Given the description of an element on the screen output the (x, y) to click on. 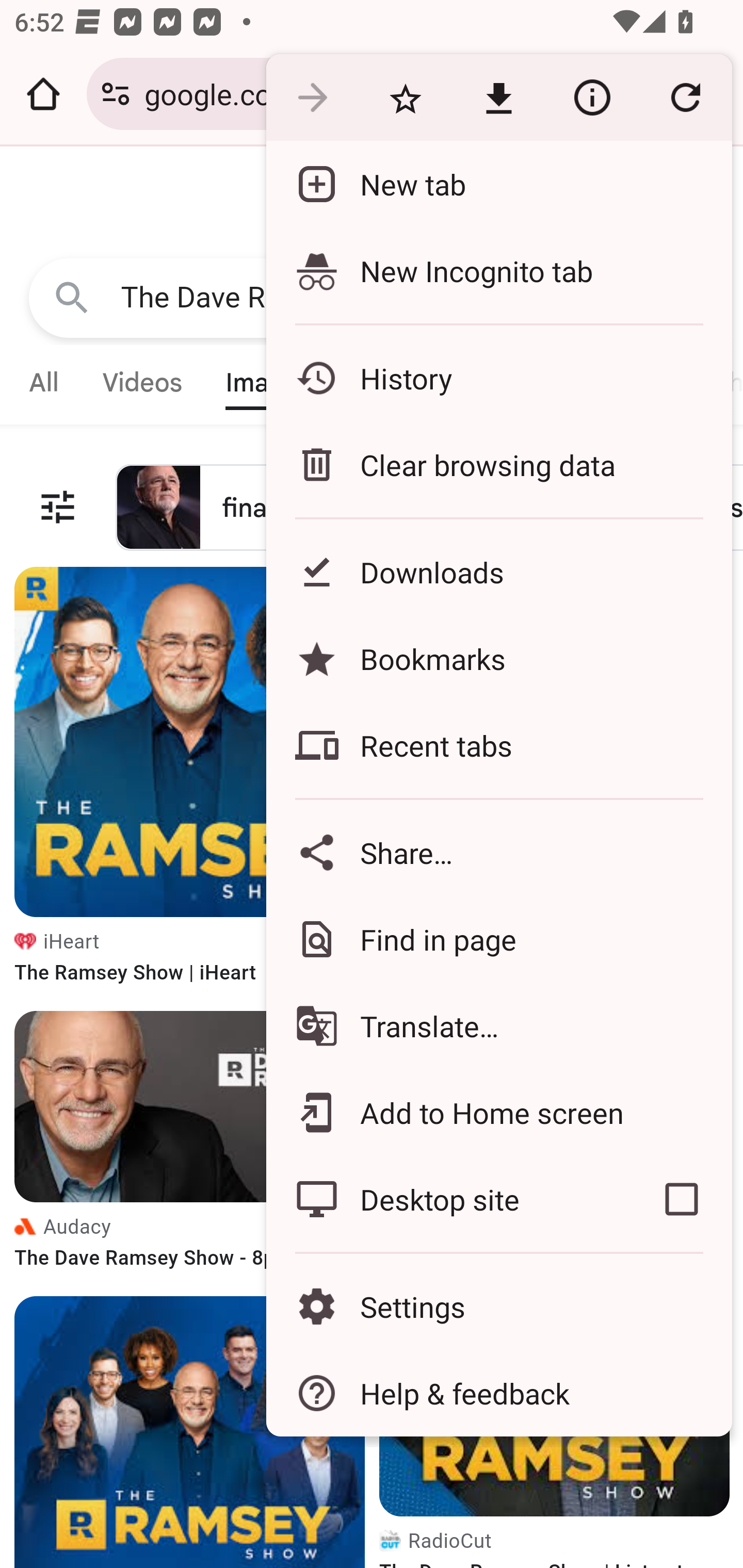
Forward (311, 97)
Bookmark (404, 97)
Download (498, 97)
Page info (591, 97)
Refresh (684, 97)
New tab (498, 184)
New Incognito tab (498, 270)
History (498, 377)
Clear browsing data (498, 464)
Downloads (498, 571)
Bookmarks (498, 658)
Recent tabs (498, 745)
Share… (498, 852)
Find in page (498, 939)
Translate… (498, 1026)
Add to Home screen (498, 1112)
Desktop site Turn on Request desktop site (447, 1198)
Settings (498, 1306)
Help & feedback (498, 1393)
